Given the description of an element on the screen output the (x, y) to click on. 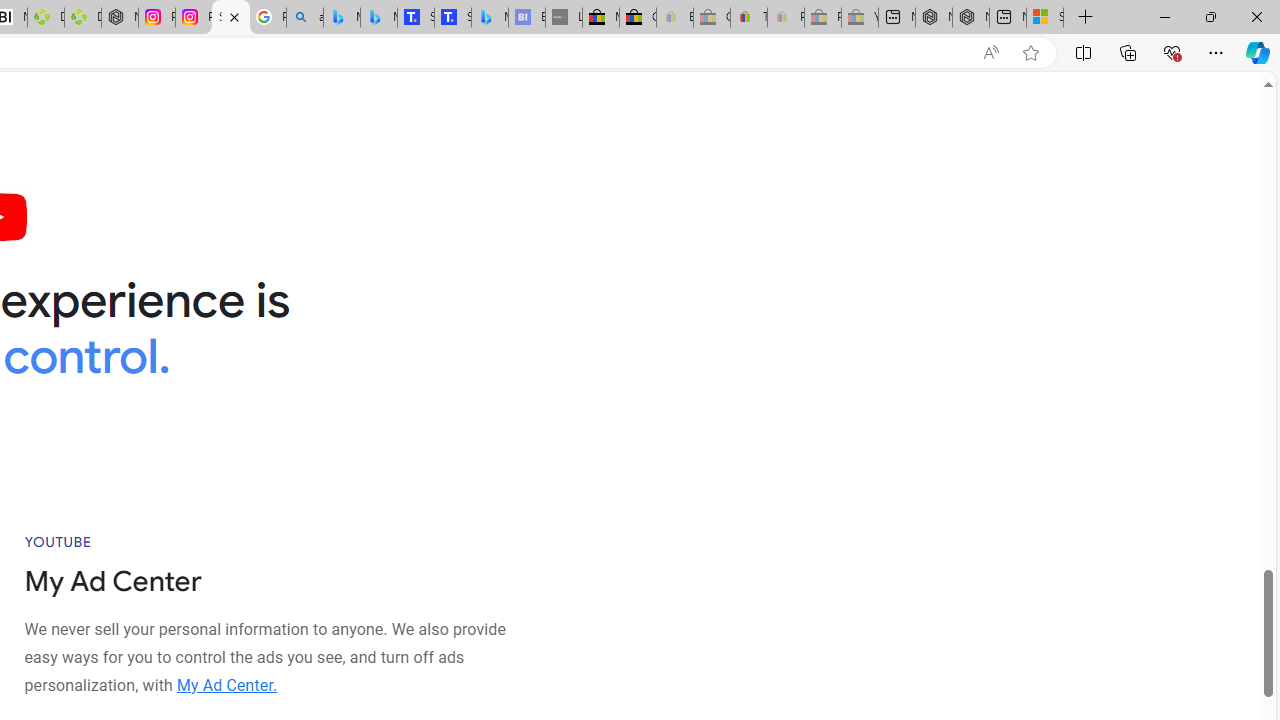
Nordace - Nordace Edin Collection (120, 17)
My Ad Center. (226, 684)
Press Room - eBay Inc. - Sleeping (822, 17)
